Given the description of an element on the screen output the (x, y) to click on. 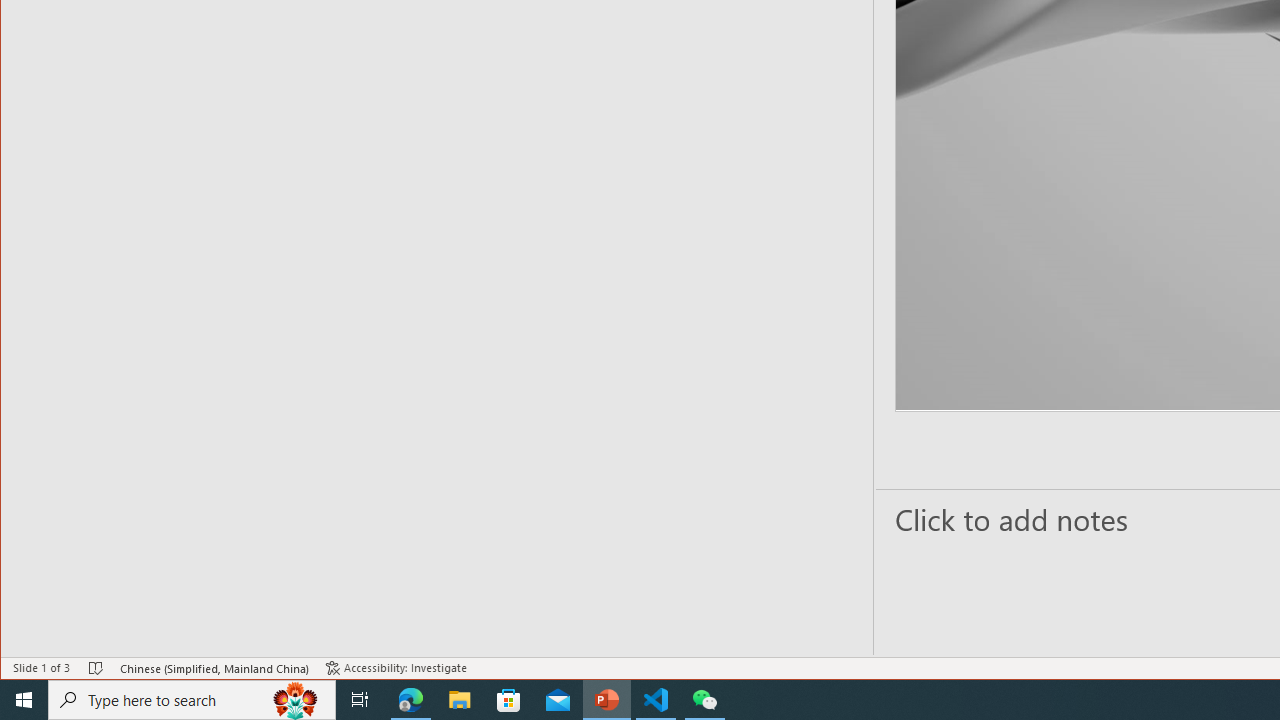
Spell Check No Errors (96, 668)
File Explorer (460, 699)
Microsoft Edge - 1 running window (411, 699)
WeChat - 1 running window (704, 699)
Visual Studio Code - 1 running window (656, 699)
PowerPoint - 1 running window (607, 699)
Accessibility Checker Accessibility: Investigate (395, 668)
Search highlights icon opens search home window (295, 699)
Microsoft Store (509, 699)
Start (24, 699)
Task View (359, 699)
Type here to search (191, 699)
